Given the description of an element on the screen output the (x, y) to click on. 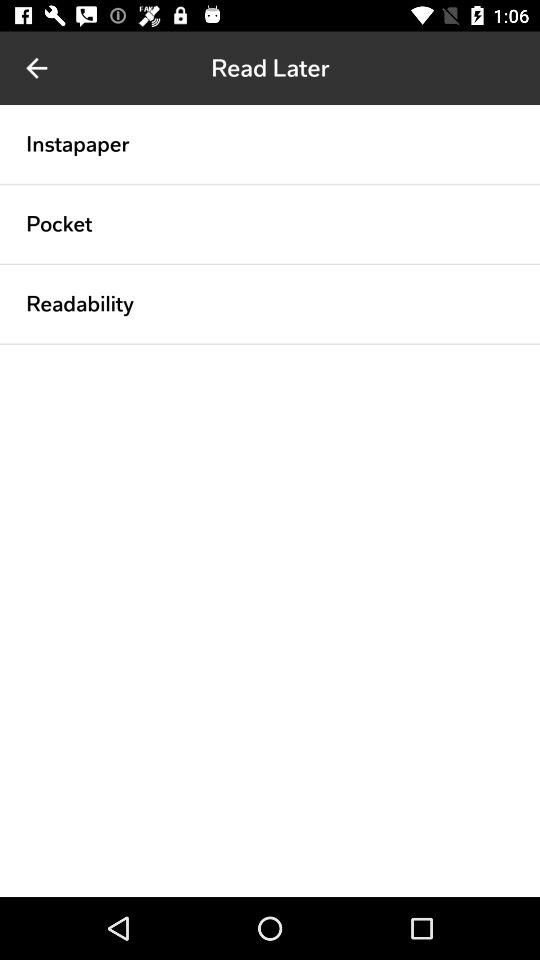
launch pocket item (59, 224)
